Given the description of an element on the screen output the (x, y) to click on. 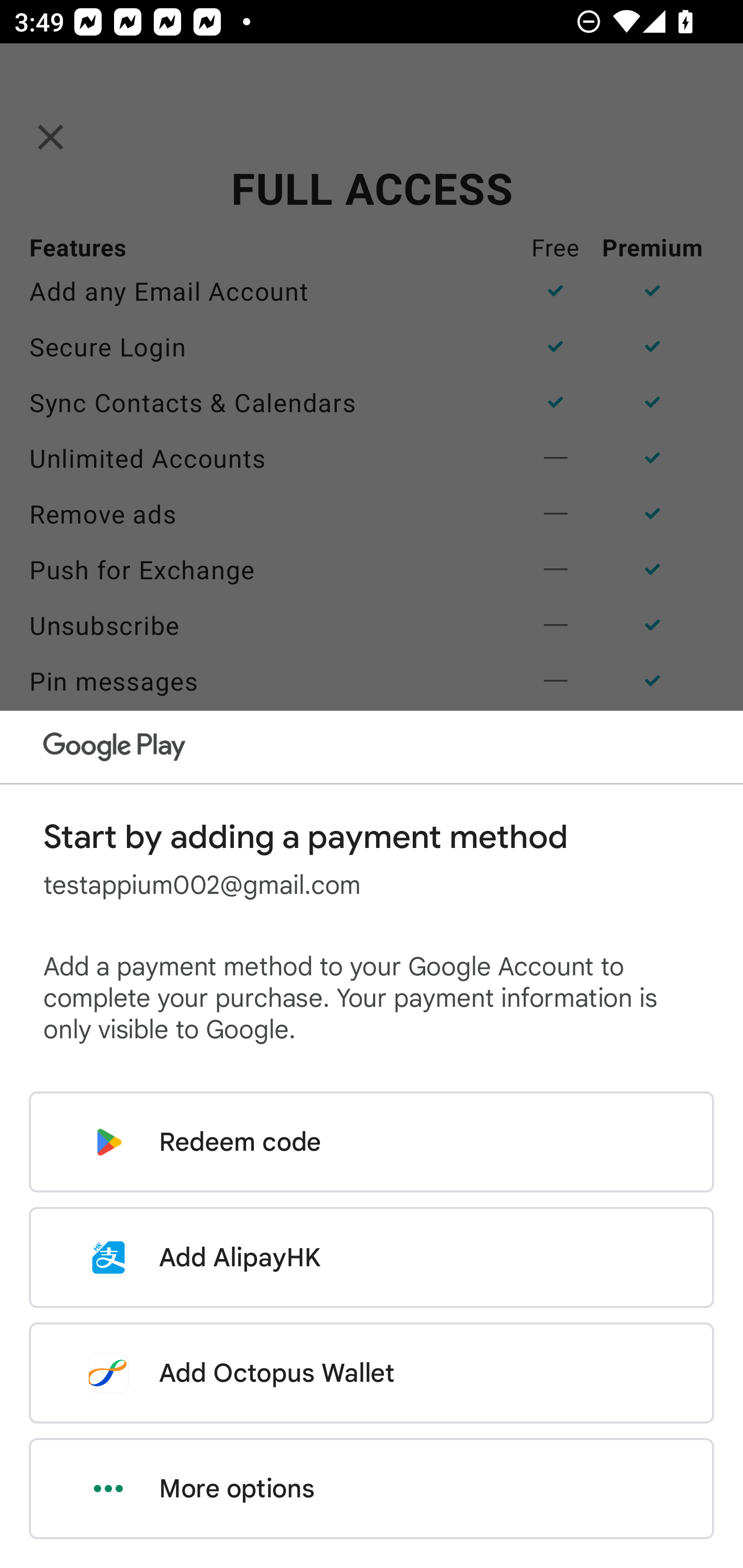
Redeem code (371, 1142)
Add AlipayHK (371, 1257)
Add Octopus Wallet (371, 1372)
More options (371, 1488)
